Given the description of an element on the screen output the (x, y) to click on. 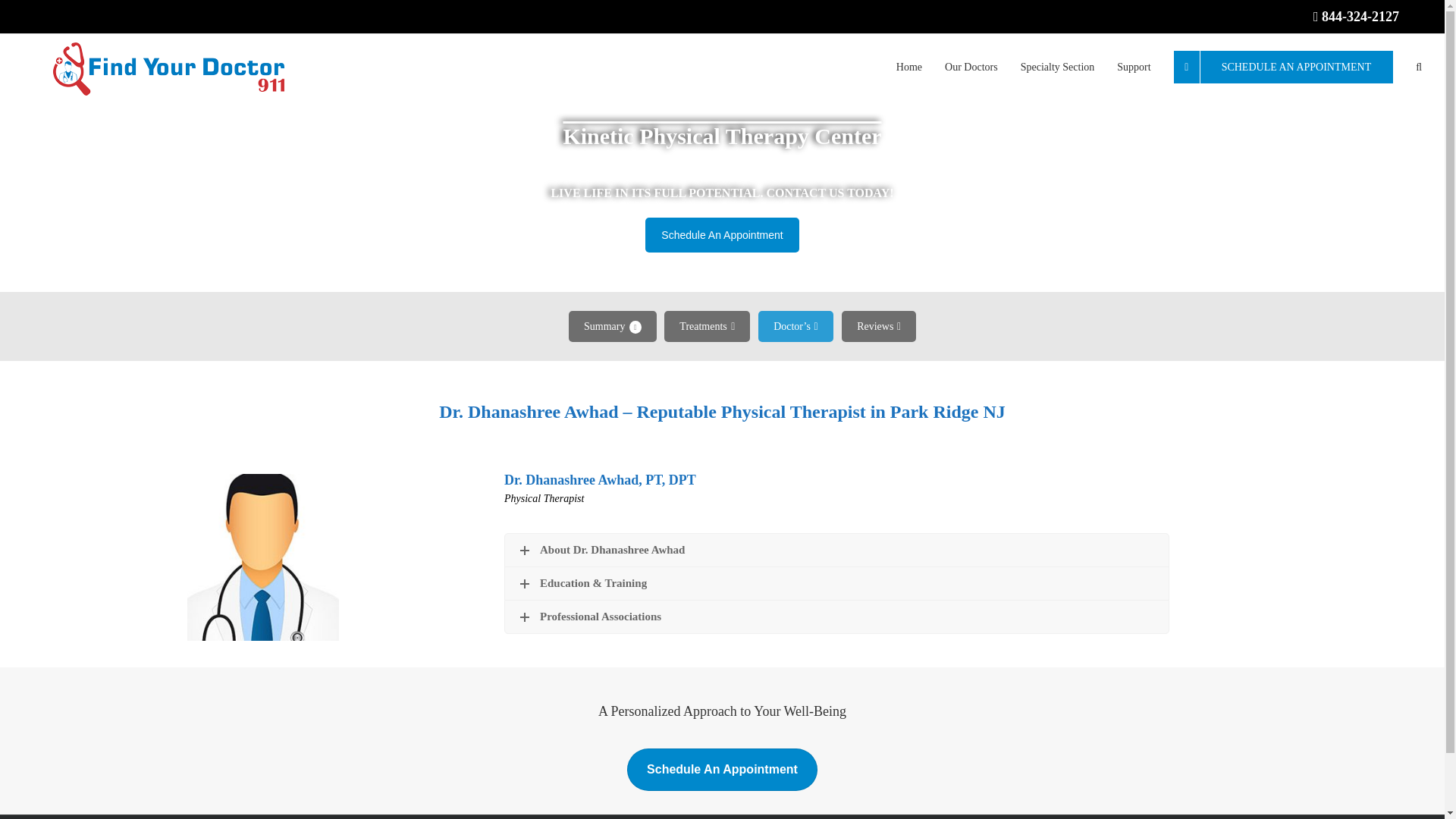
Specialty Section (1057, 65)
dummy men (263, 556)
SCHEDULE AN APPOINTMENT (1283, 65)
844-324-2127 (1360, 16)
